Given the description of an element on the screen output the (x, y) to click on. 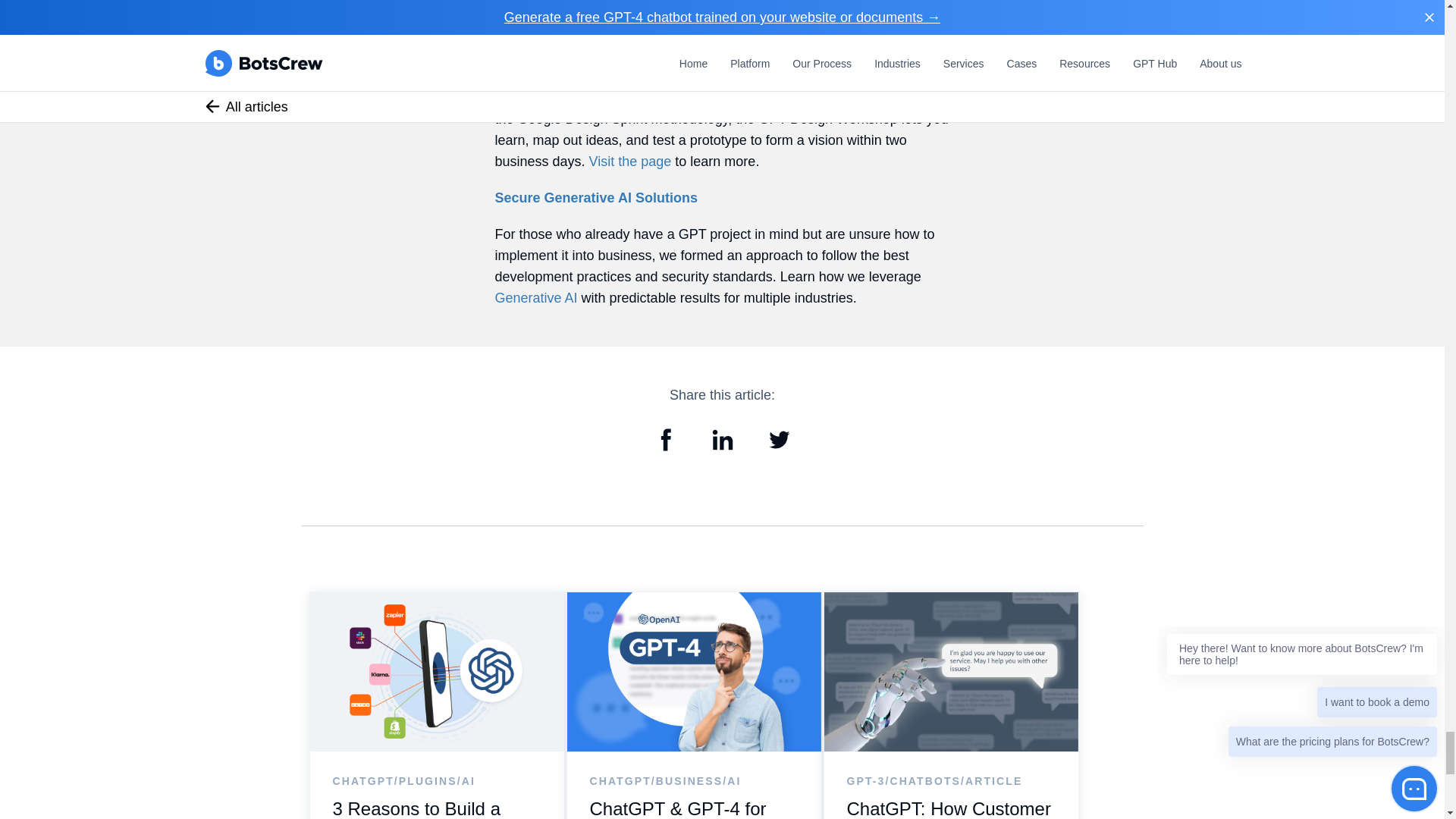
Share on Facebook (665, 450)
Share on LinkedIn (721, 450)
Share on Twitter (779, 450)
